Given the description of an element on the screen output the (x, y) to click on. 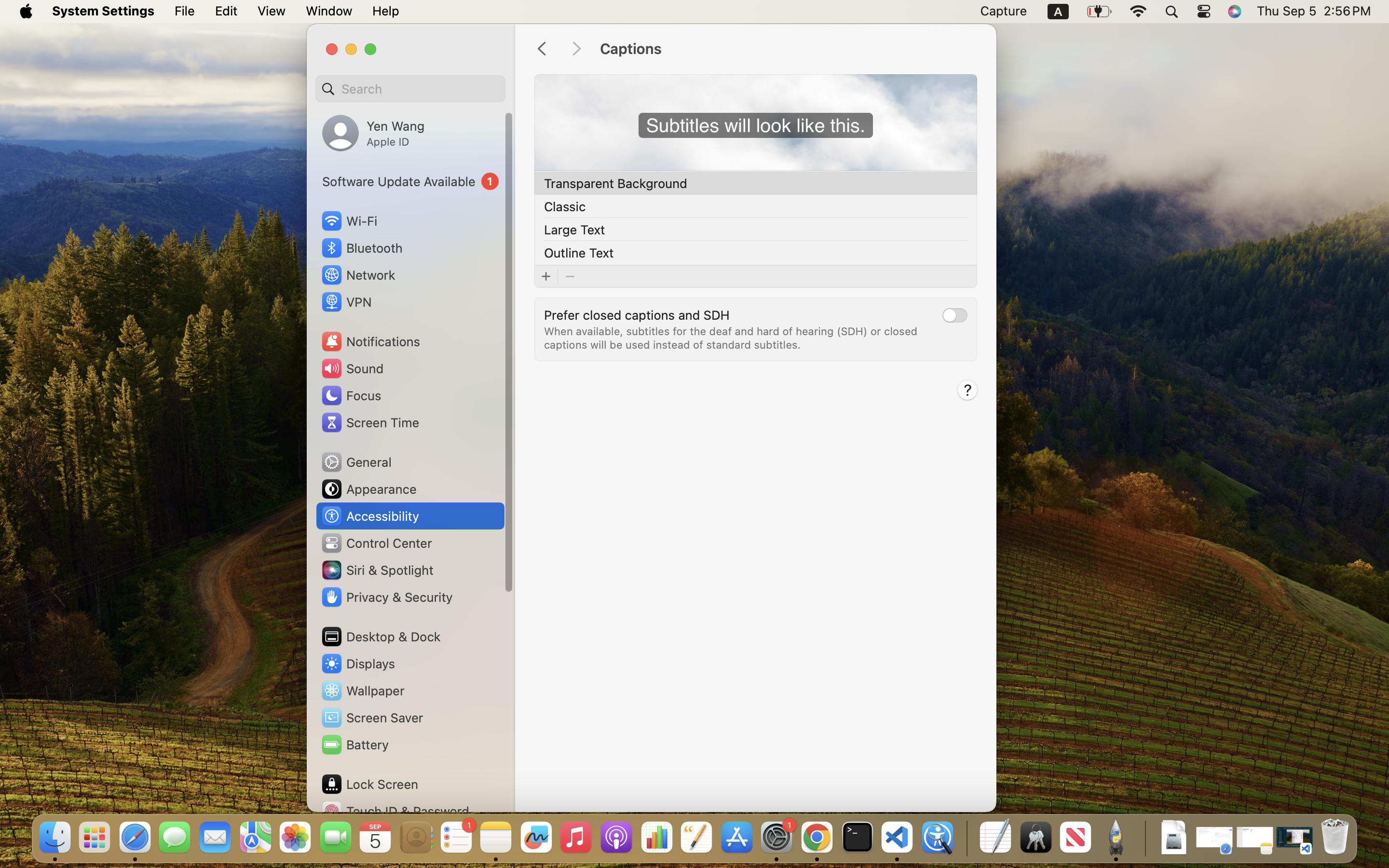
1 Element type: AXStaticText (410, 180)
Network Element type: AXStaticText (357, 274)
Classic Element type: AXStaticText (564, 206)
Large Text Element type: AXStaticText (574, 229)
Lock Screen Element type: AXStaticText (369, 783)
